Given the description of an element on the screen output the (x, y) to click on. 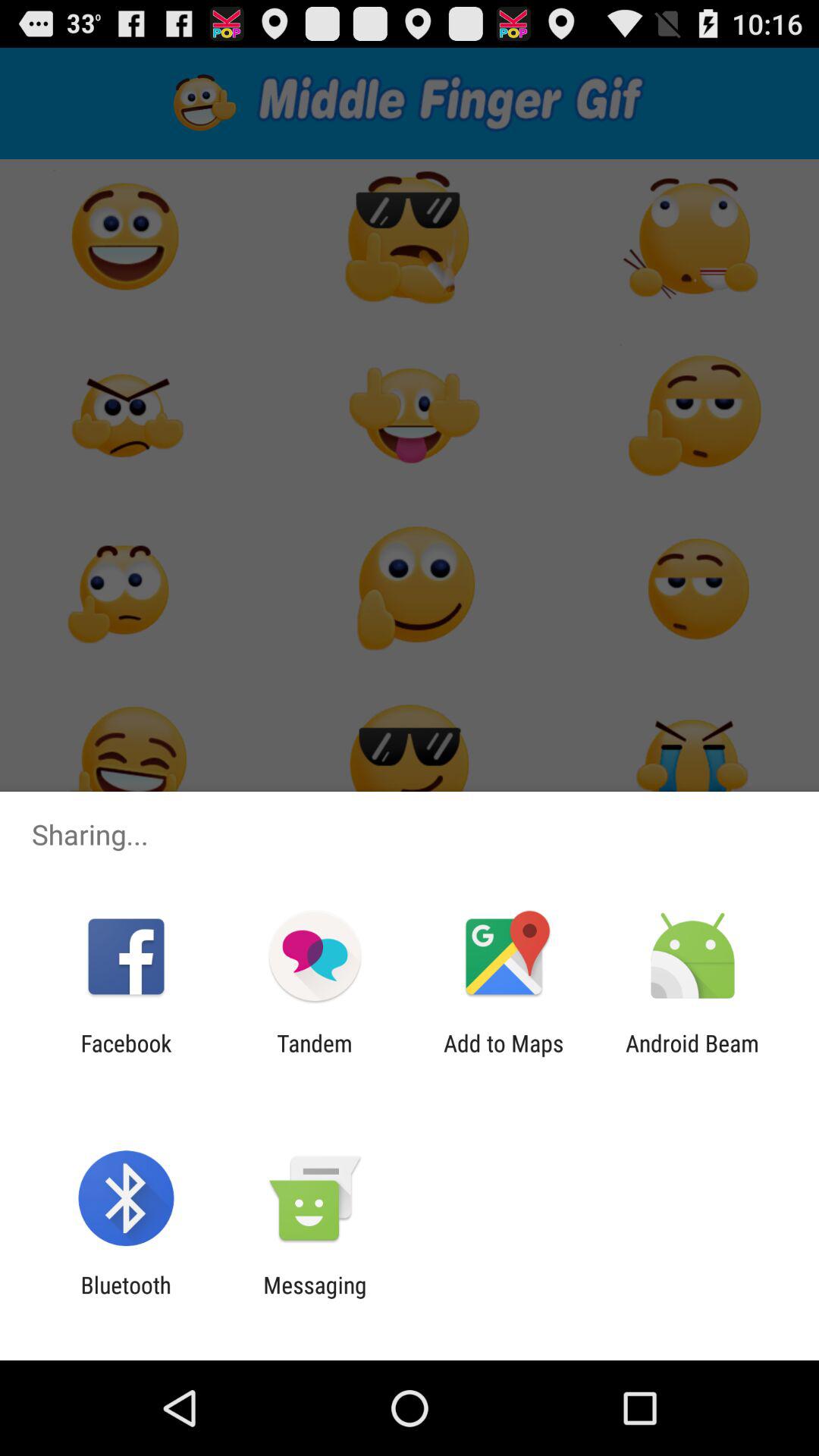
choose the item to the right of tandem (503, 1056)
